Given the description of an element on the screen output the (x, y) to click on. 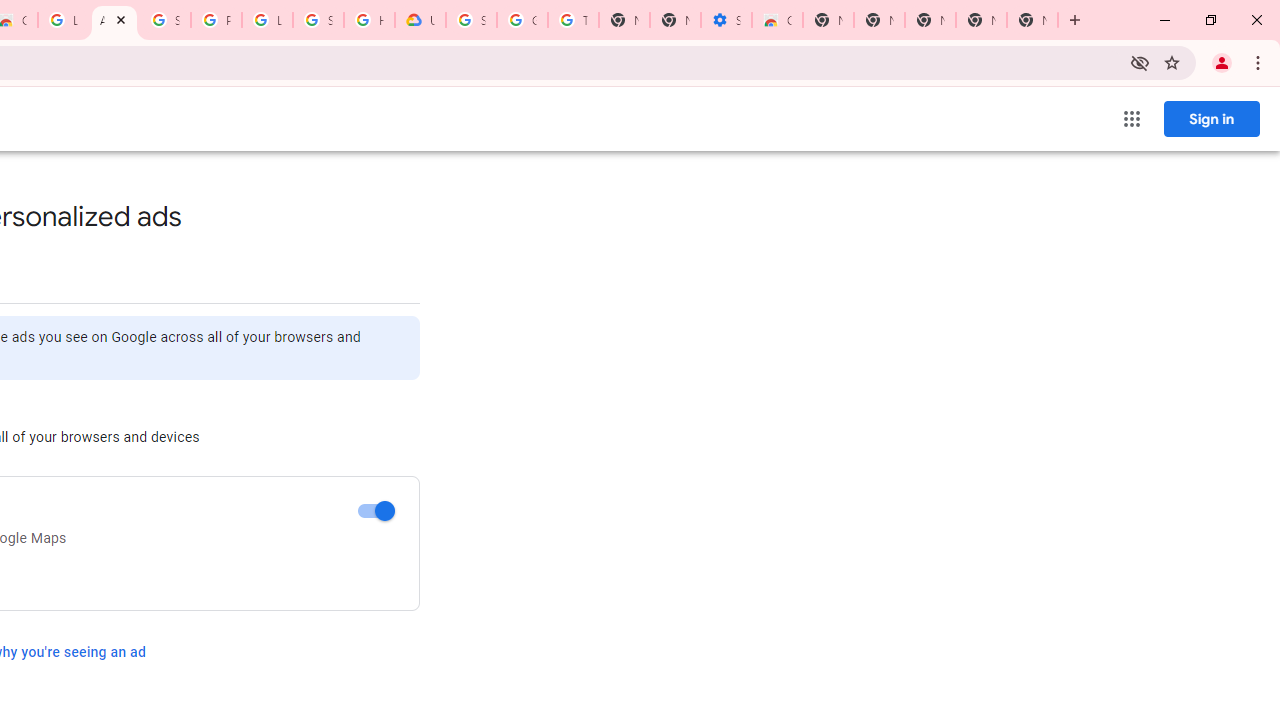
Chrome Web Store - Accessibility extensions (776, 20)
Sign in - Google Accounts (164, 20)
Sign in - Google Accounts (318, 20)
New Tab (827, 20)
New Tab (1032, 20)
Ad Settings (113, 20)
